Given the description of an element on the screen output the (x, y) to click on. 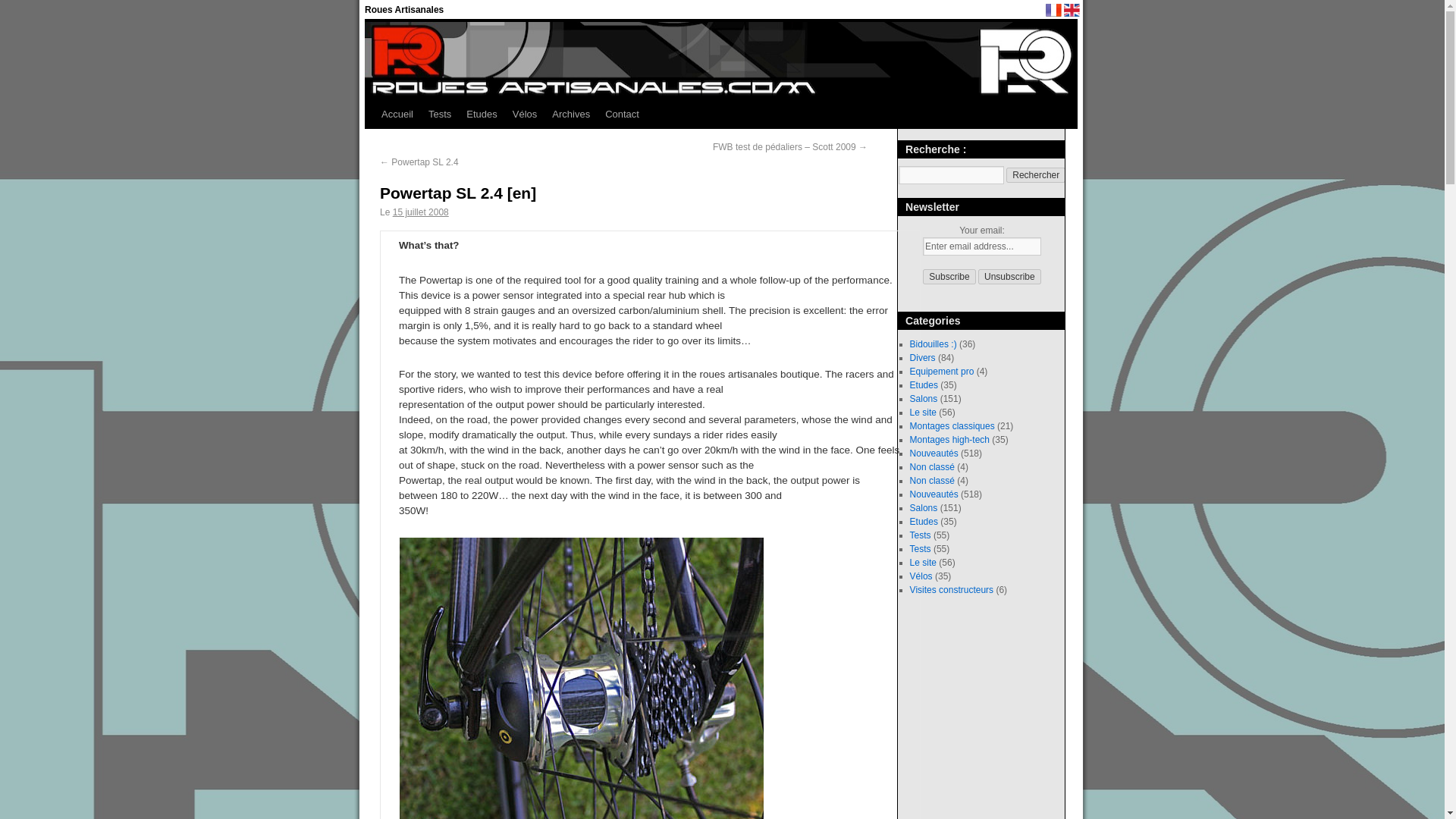
Rechercher (1035, 174)
Tests (920, 548)
Unsubscribe (1009, 276)
Accueil (397, 113)
Divers (923, 357)
Montages classiques (952, 425)
Equipement pro (942, 371)
0 h 00 min (420, 212)
Salons (923, 507)
15 juillet 2008 (420, 212)
